Given the description of an element on the screen output the (x, y) to click on. 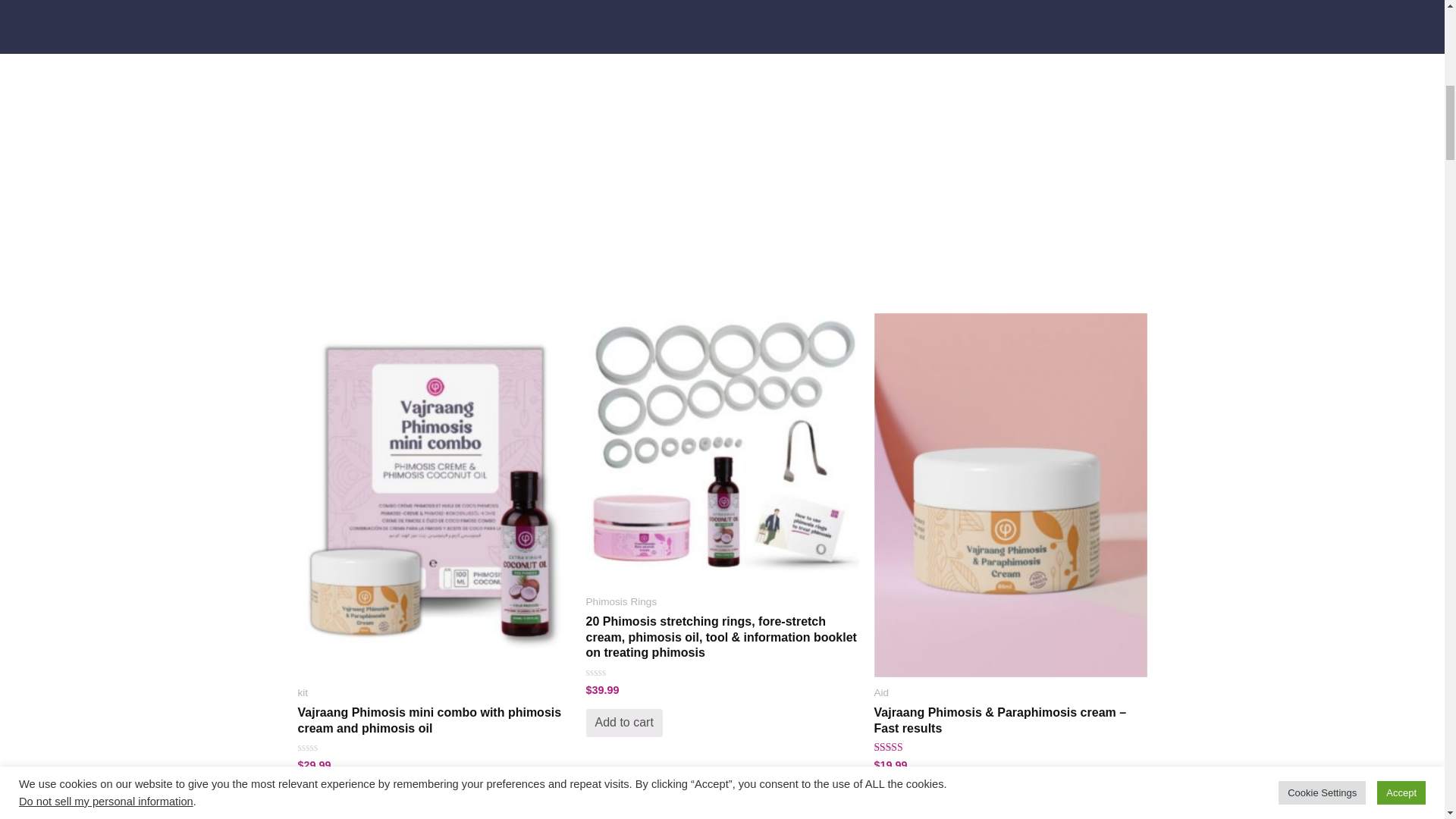
Add to cart (623, 723)
Fb Ads For Tp - Treatphimosis.com (722, 449)
Add to cart (335, 797)
Add to cart (911, 797)
